Given the description of an element on the screen output the (x, y) to click on. 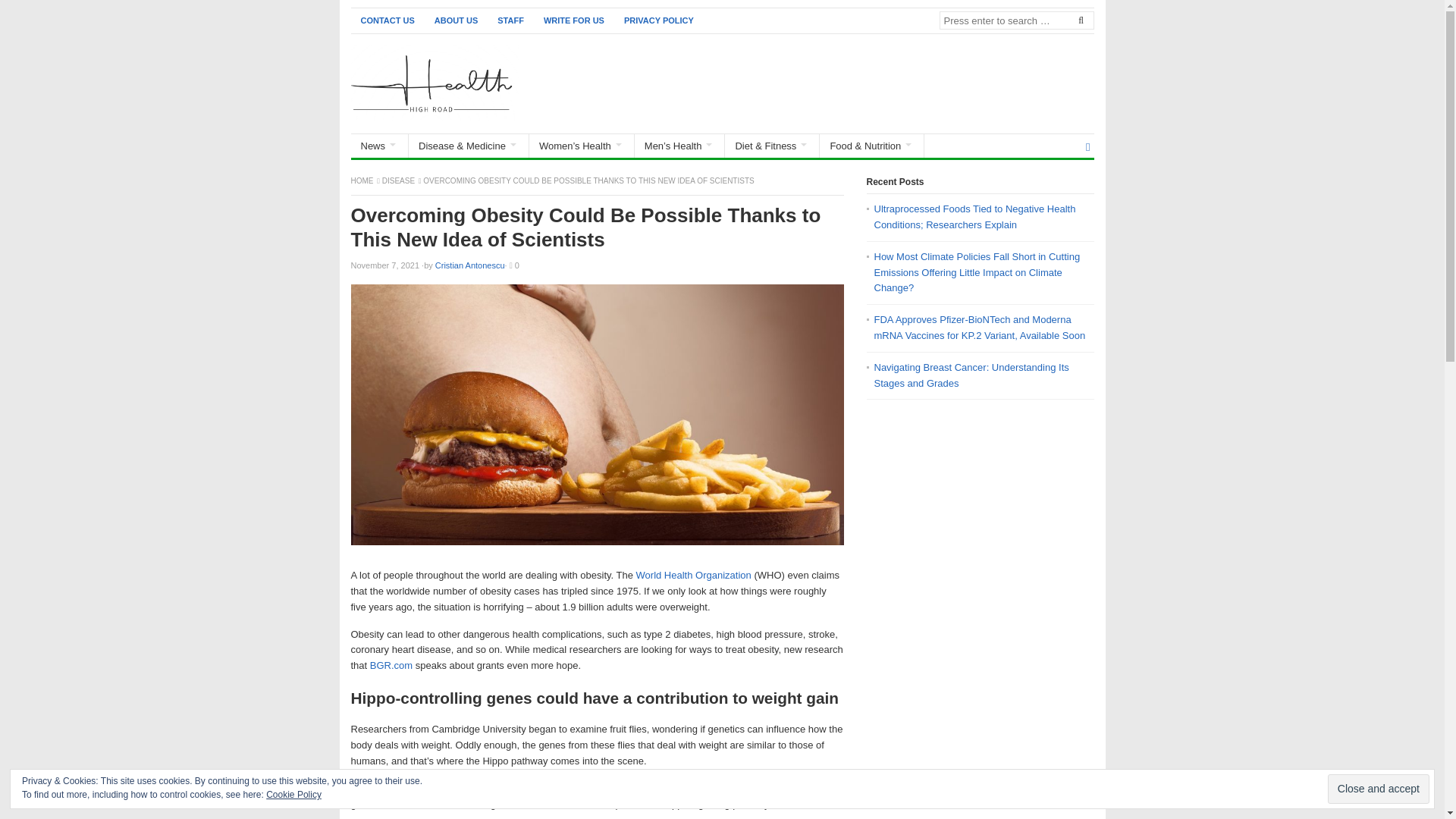
ABOUT US (456, 20)
Search for: (1016, 20)
Disease (398, 180)
PRIVACY POLICY (658, 20)
WRITE FOR US (574, 20)
Close and accept (1378, 788)
CONTACT US (386, 20)
STAFF (510, 20)
Health Highroad (362, 180)
